Given the description of an element on the screen output the (x, y) to click on. 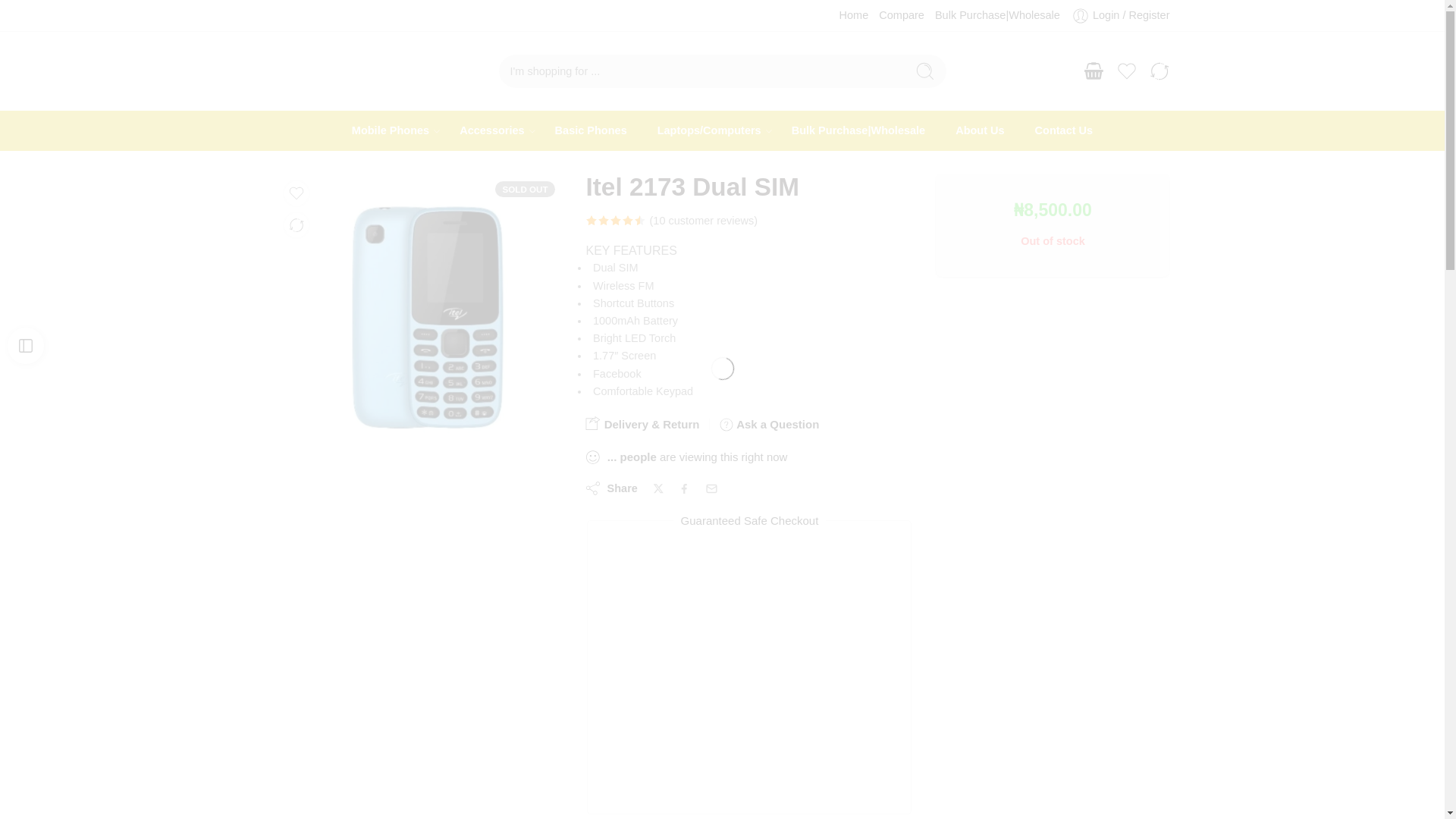
Mobile Phones (390, 130)
About Us (979, 130)
Basic Phones (590, 130)
Home (854, 15)
 Ask a Question (769, 424)
Mobile Phones (390, 130)
Compare (901, 15)
Accessories (492, 130)
Home (854, 15)
Basic Phones (590, 130)
